Given the description of an element on the screen output the (x, y) to click on. 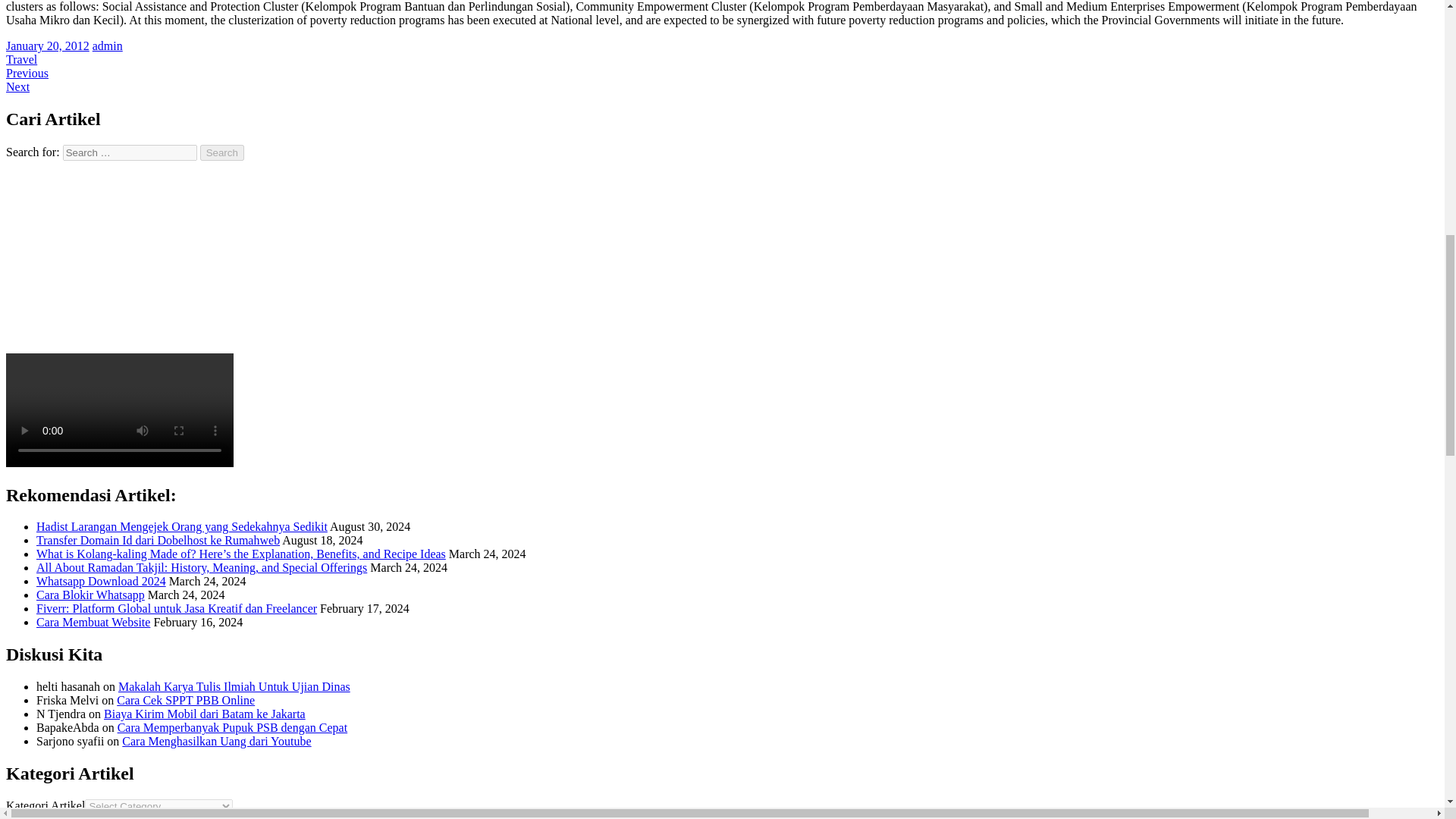
Search (222, 152)
Search (222, 152)
Previous (26, 72)
admin (107, 45)
Next (17, 86)
Search (222, 152)
Travel (21, 59)
January 20, 2012 (46, 45)
